Given the description of an element on the screen output the (x, y) to click on. 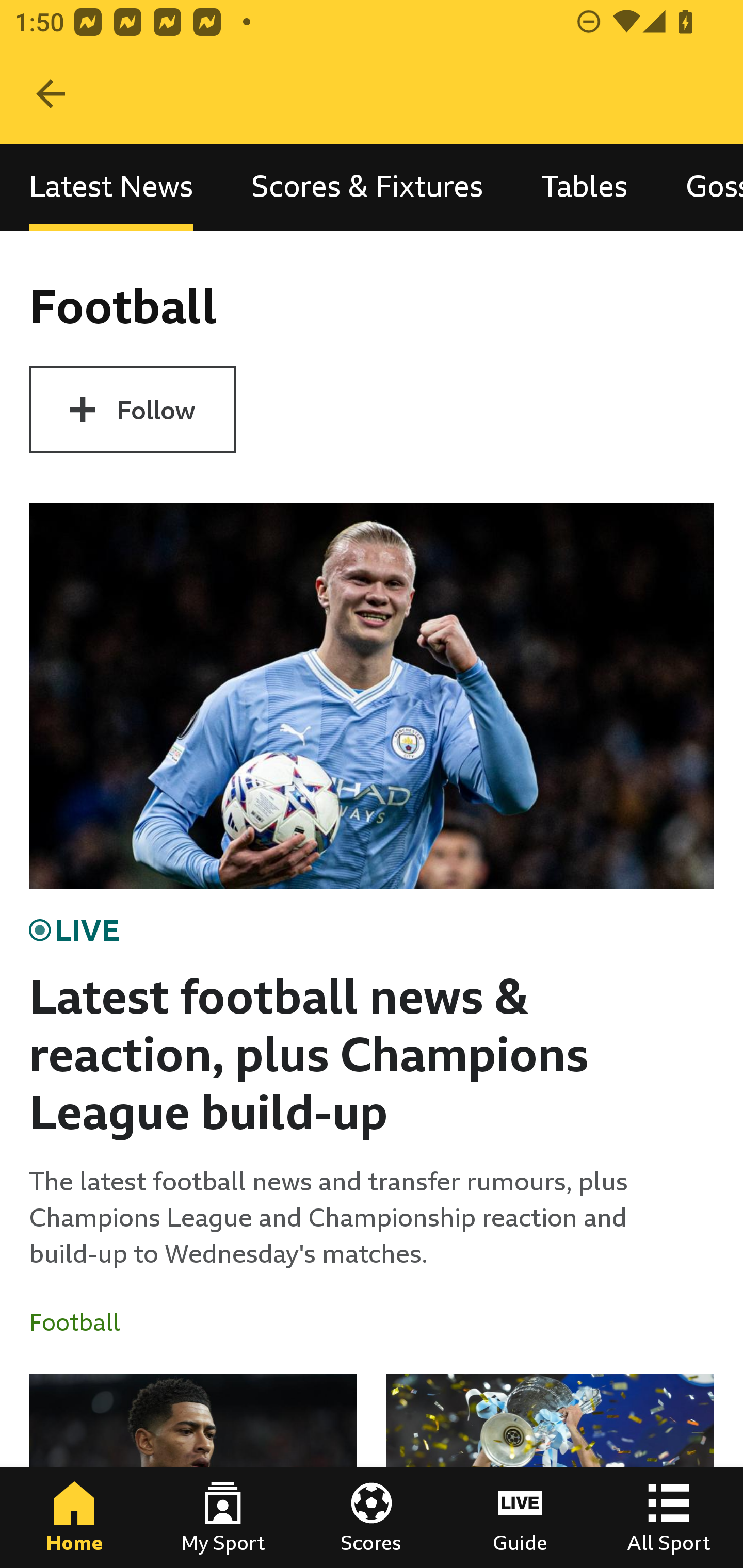
Navigate up (50, 93)
Latest News, selected Latest News (111, 187)
Scores & Fixtures (367, 187)
Tables (584, 187)
Follow Football Follow (132, 409)
My Sport (222, 1517)
Scores (371, 1517)
Guide (519, 1517)
All Sport (668, 1517)
